Given the description of an element on the screen output the (x, y) to click on. 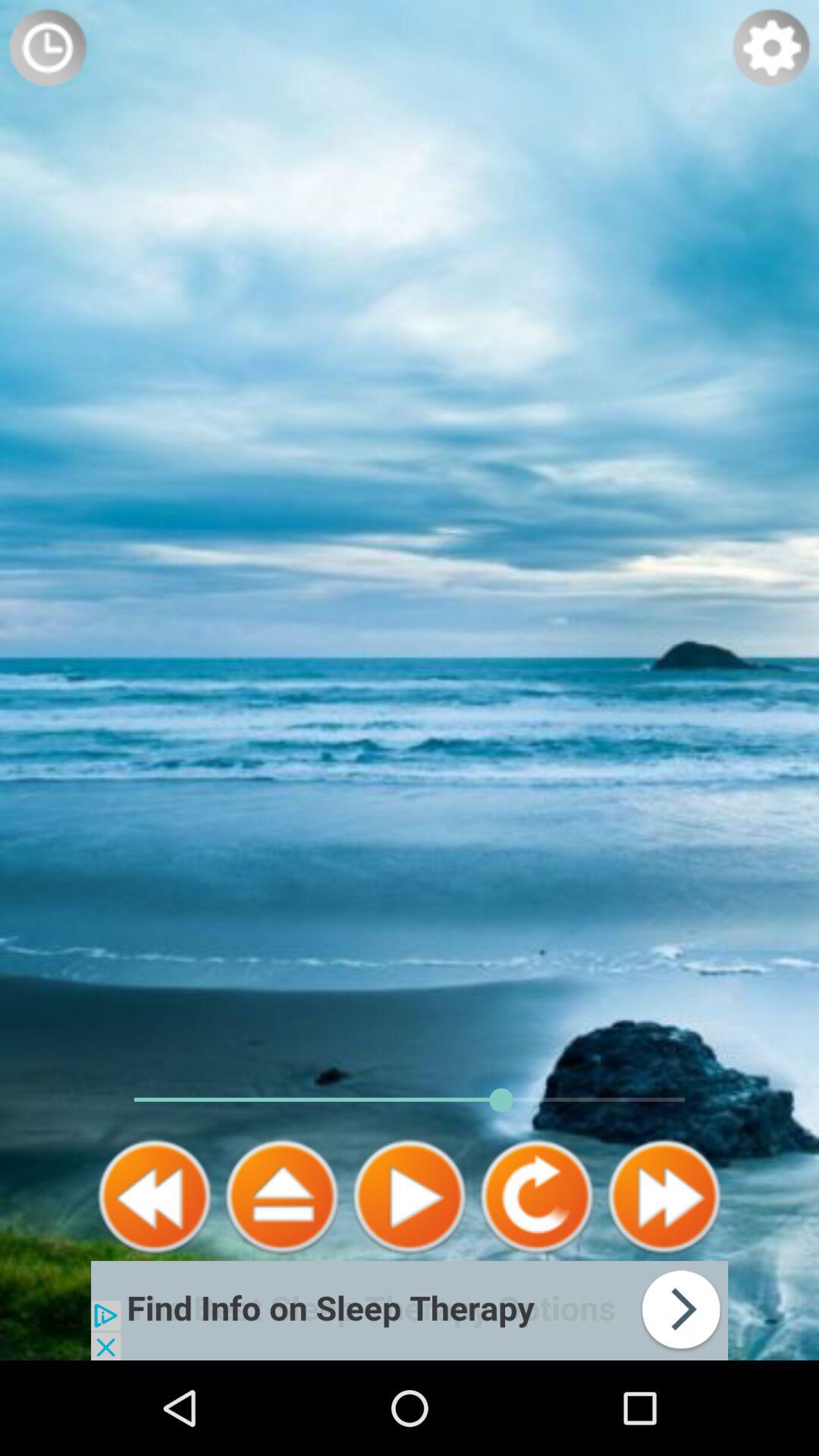
fast forward (664, 1196)
